Given the description of an element on the screen output the (x, y) to click on. 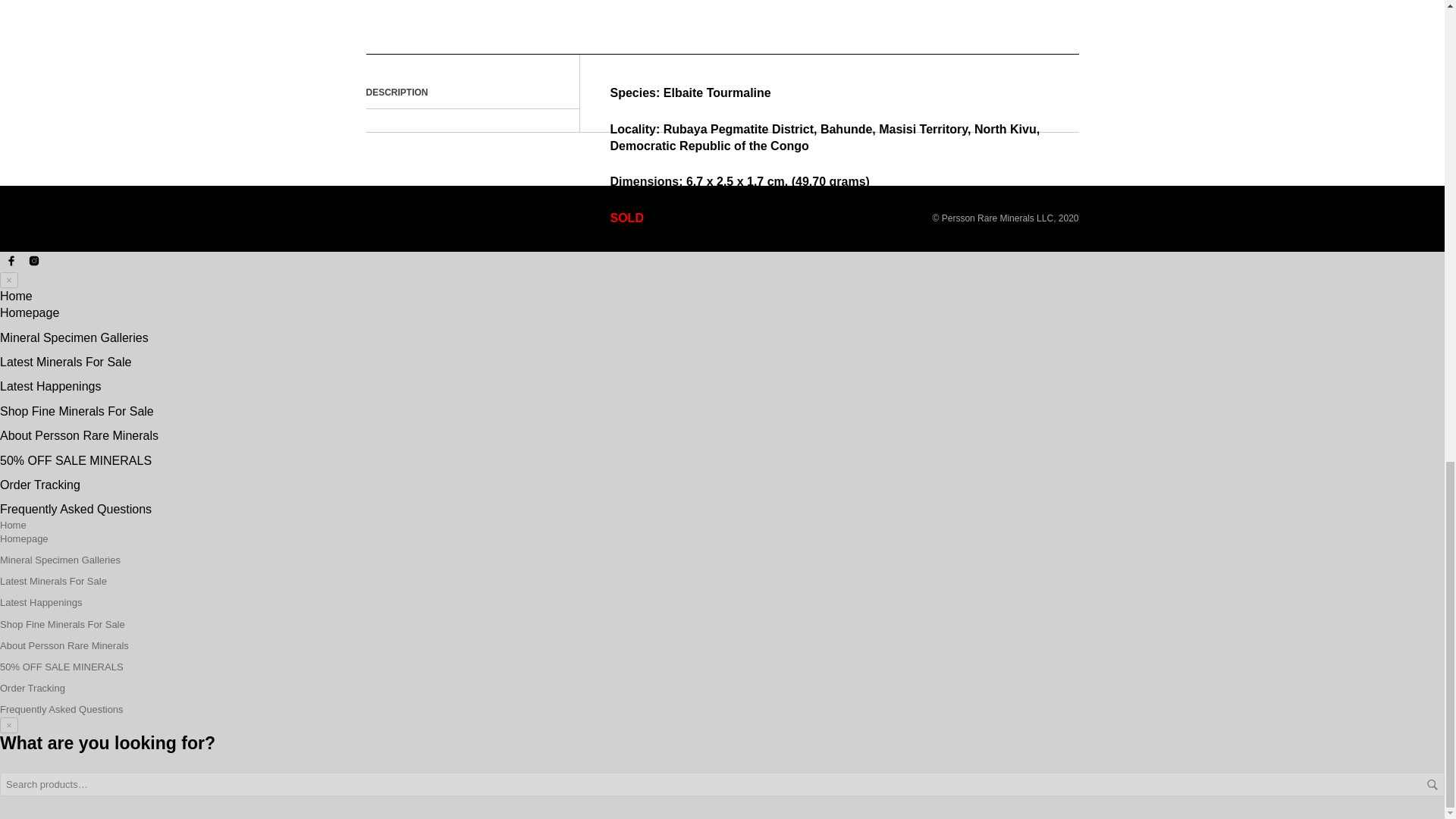
DESCRIPTION (396, 92)
